Given the description of an element on the screen output the (x, y) to click on. 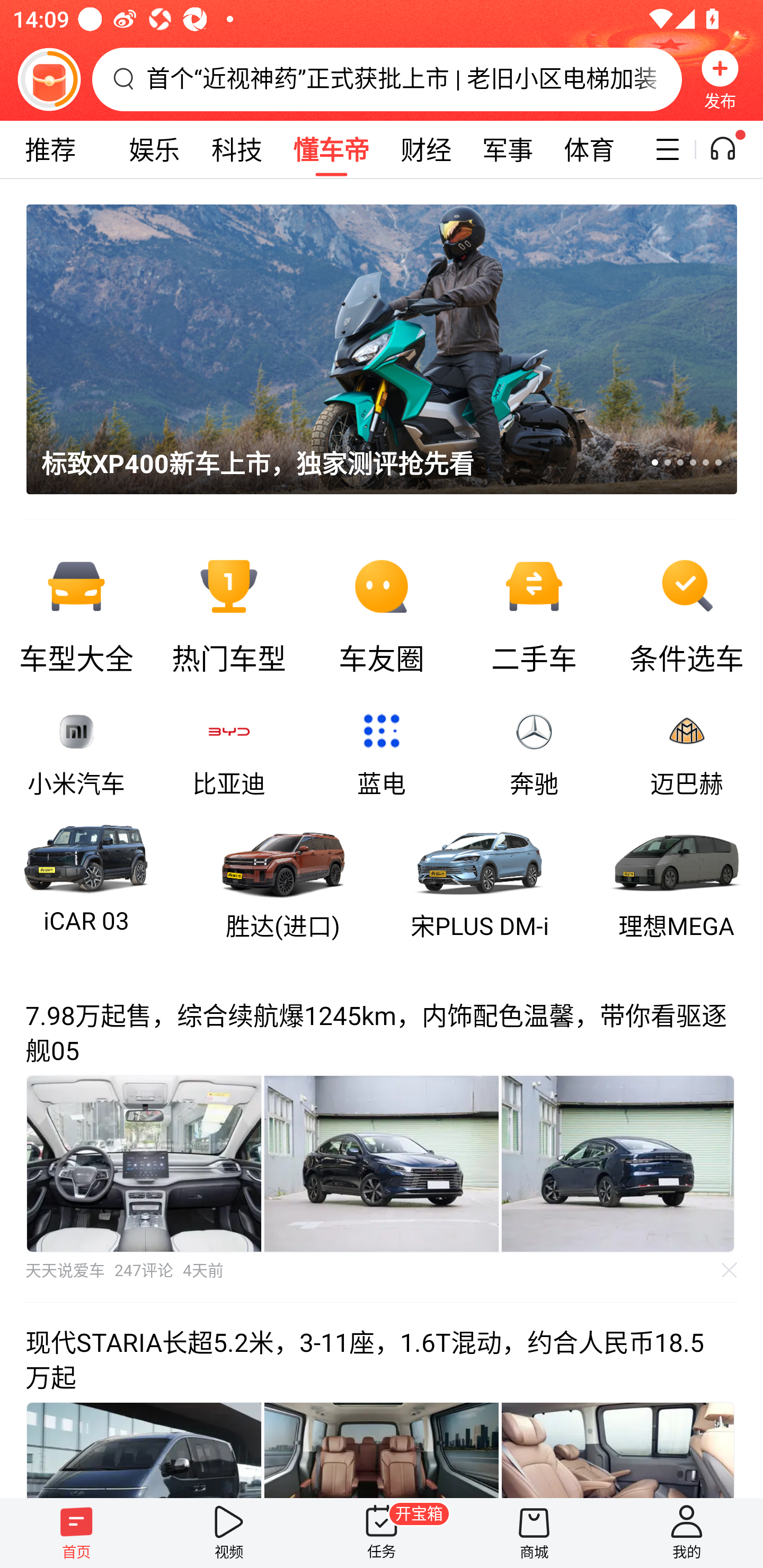
阅读赚金币 (48, 79)
发布 发布，按钮 (720, 78)
推荐 (49, 149)
娱乐 (154, 149)
科技 (236, 149)
懂车帝 (331, 149)
财经 (425, 149)
军事 (507, 149)
体育 (589, 149)
听一听开关 (732, 149)
标致XP400新车上市，独家测评抢先看 (368, 348)
车型大全按钮 (76, 612)
热门车型按钮 (228, 612)
车友圈按钮 (381, 612)
二手车按钮 (533, 612)
条件选车按钮 (686, 612)
小米汽车按钮 (76, 754)
比亚迪按钮 (228, 754)
蓝电按钮 (381, 754)
奔驰按钮 (533, 754)
迈巴赫按钮 (686, 754)
iCAR 03按钮 (86, 879)
胜达(进口)按钮 (283, 879)
宋PLUS DM-i按钮 (479, 879)
理想MEGA按钮 (676, 879)
三张内容图片 内容图片 内容图片 内容图片 (381, 1163)
内容图片 (381, 1163)
内容图片 (617, 1163)
不感兴趣 (729, 1269)
首页 (76, 1532)
视频 (228, 1532)
任务 开宝箱 (381, 1532)
商城 (533, 1532)
我的 (686, 1532)
